Given the description of an element on the screen output the (x, y) to click on. 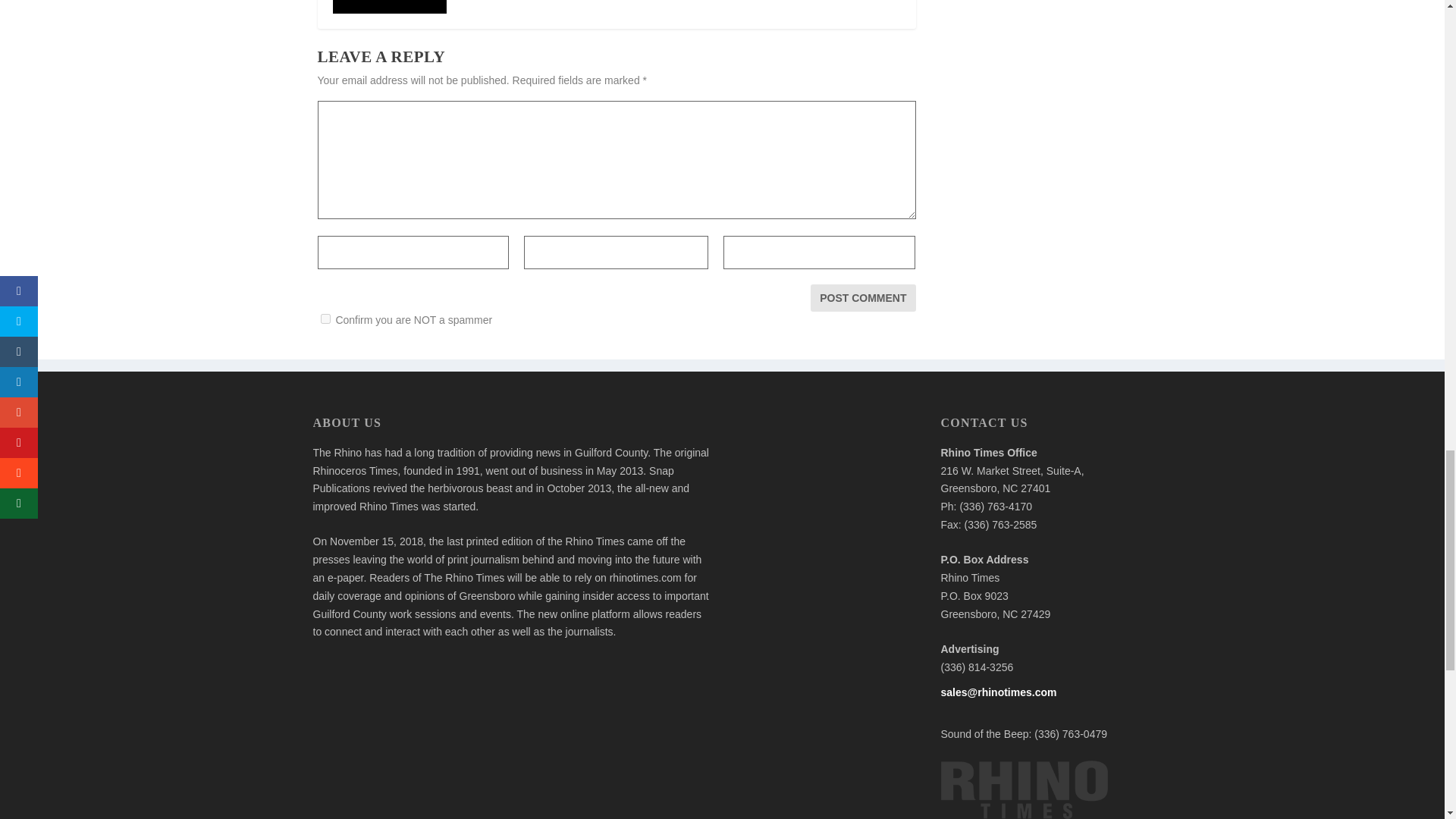
Post Comment (862, 298)
on (325, 318)
